Given the description of an element on the screen output the (x, y) to click on. 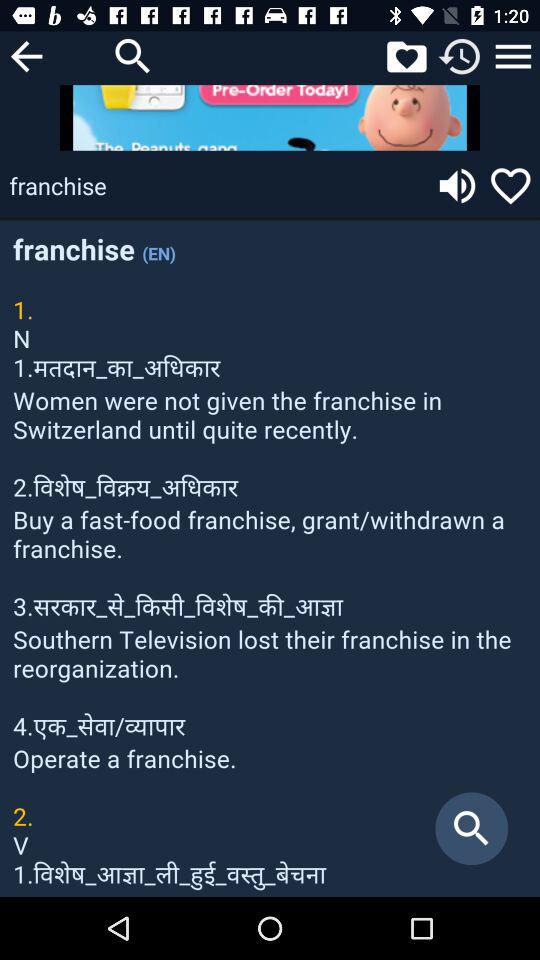
go back (26, 56)
